Given the description of an element on the screen output the (x, y) to click on. 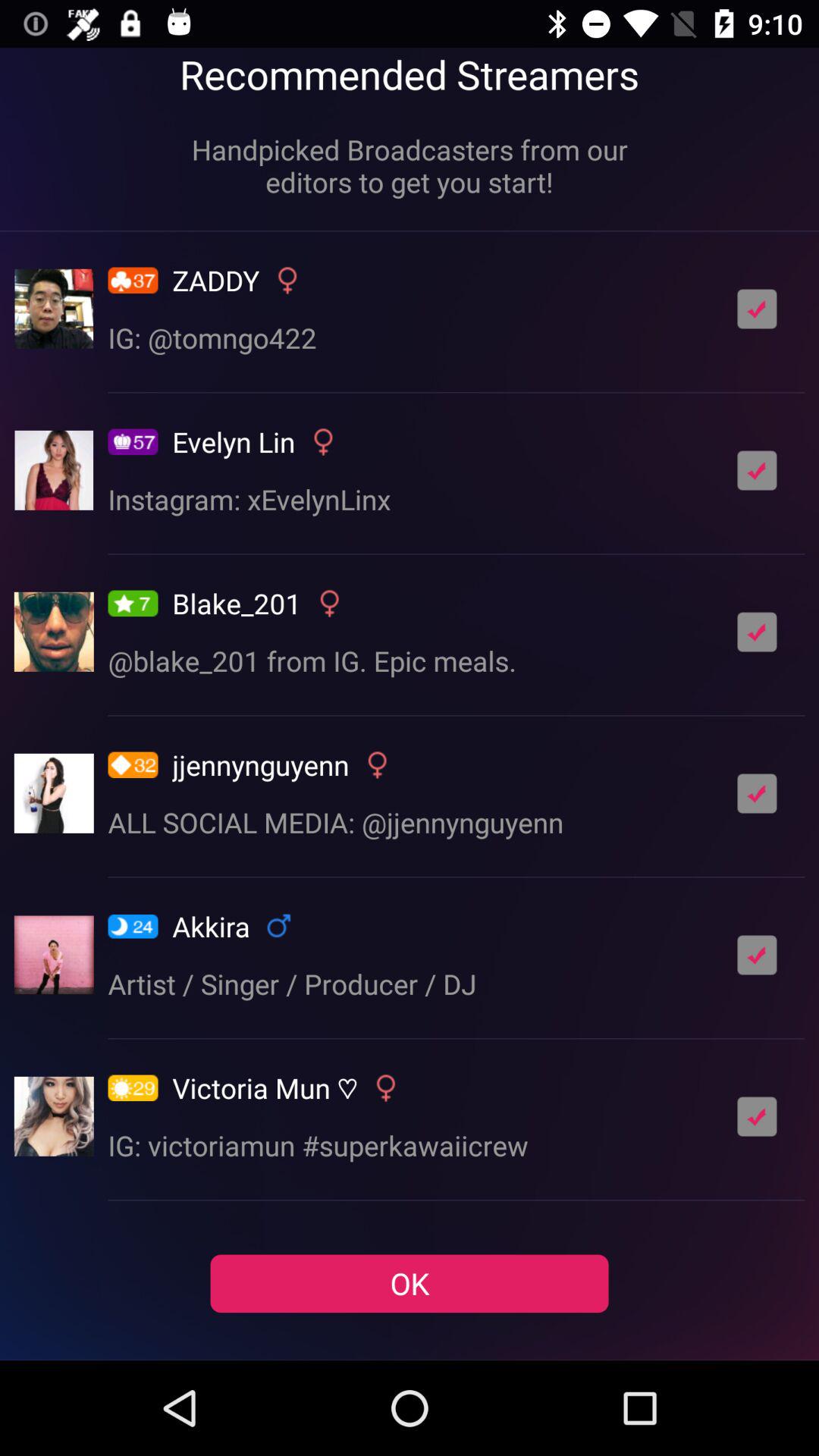
select streamer (756, 631)
